Given the description of an element on the screen output the (x, y) to click on. 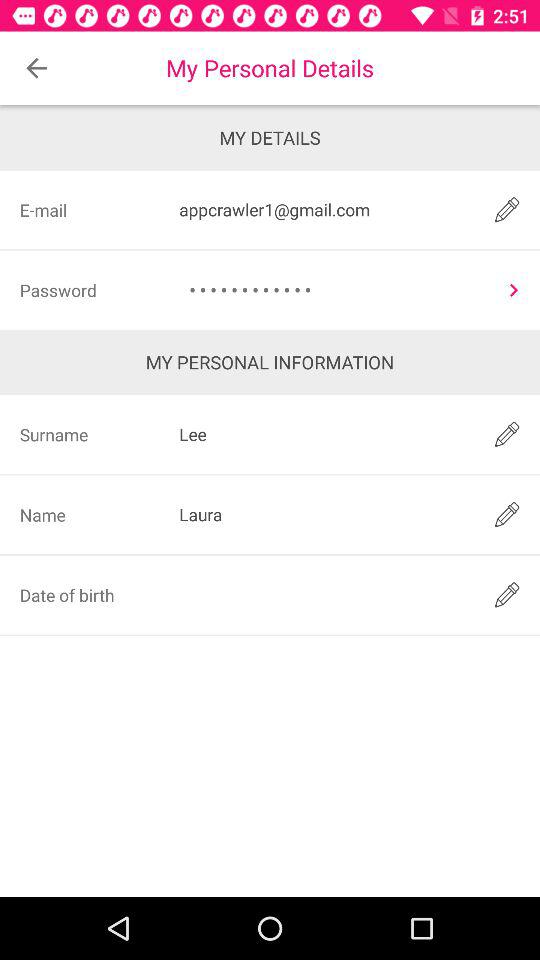
turn on the appcrawler1@gmail.com icon (323, 209)
